Given the description of an element on the screen output the (x, y) to click on. 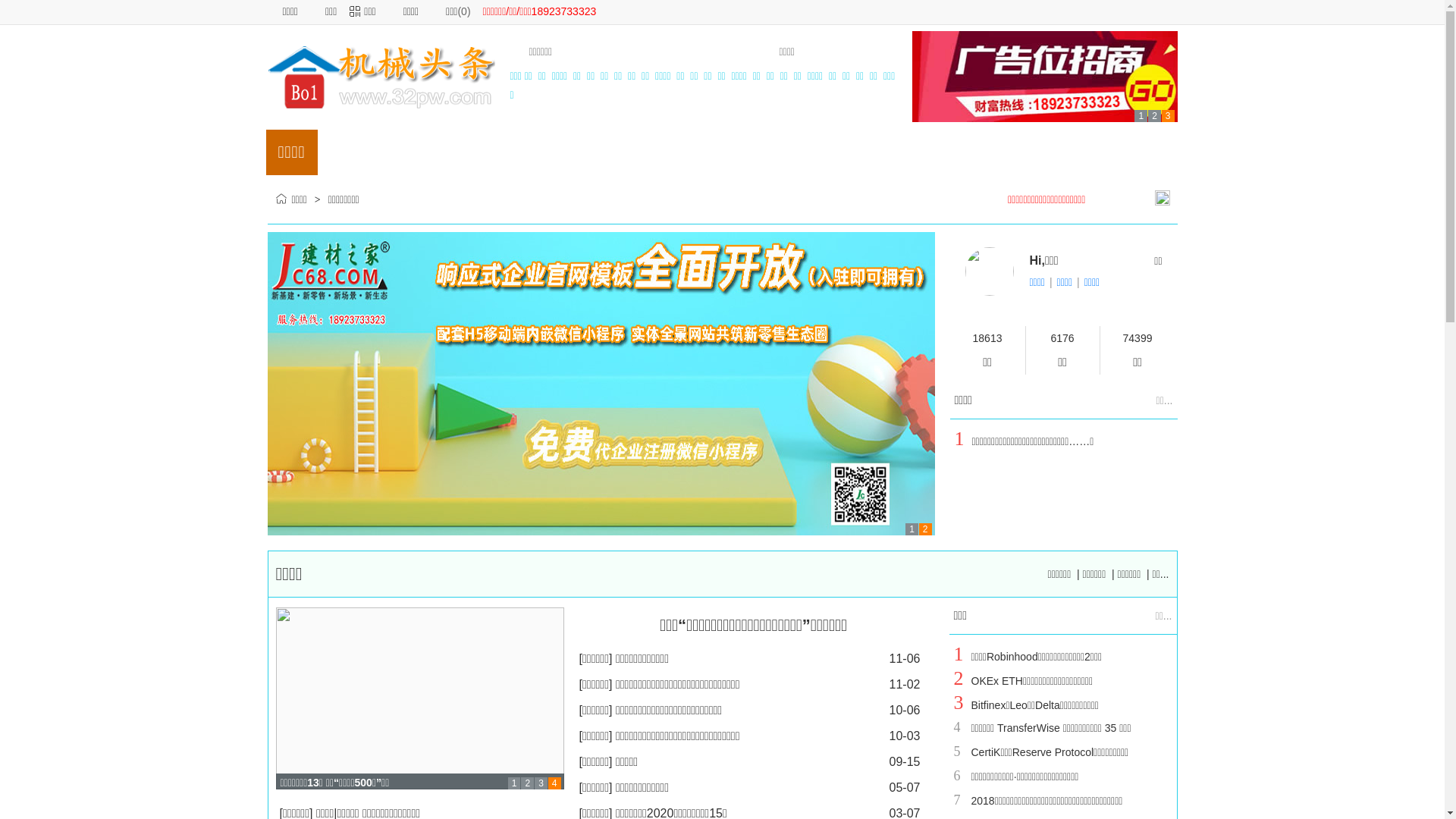
  Element type: text (869, 50)
